Given the description of an element on the screen output the (x, y) to click on. 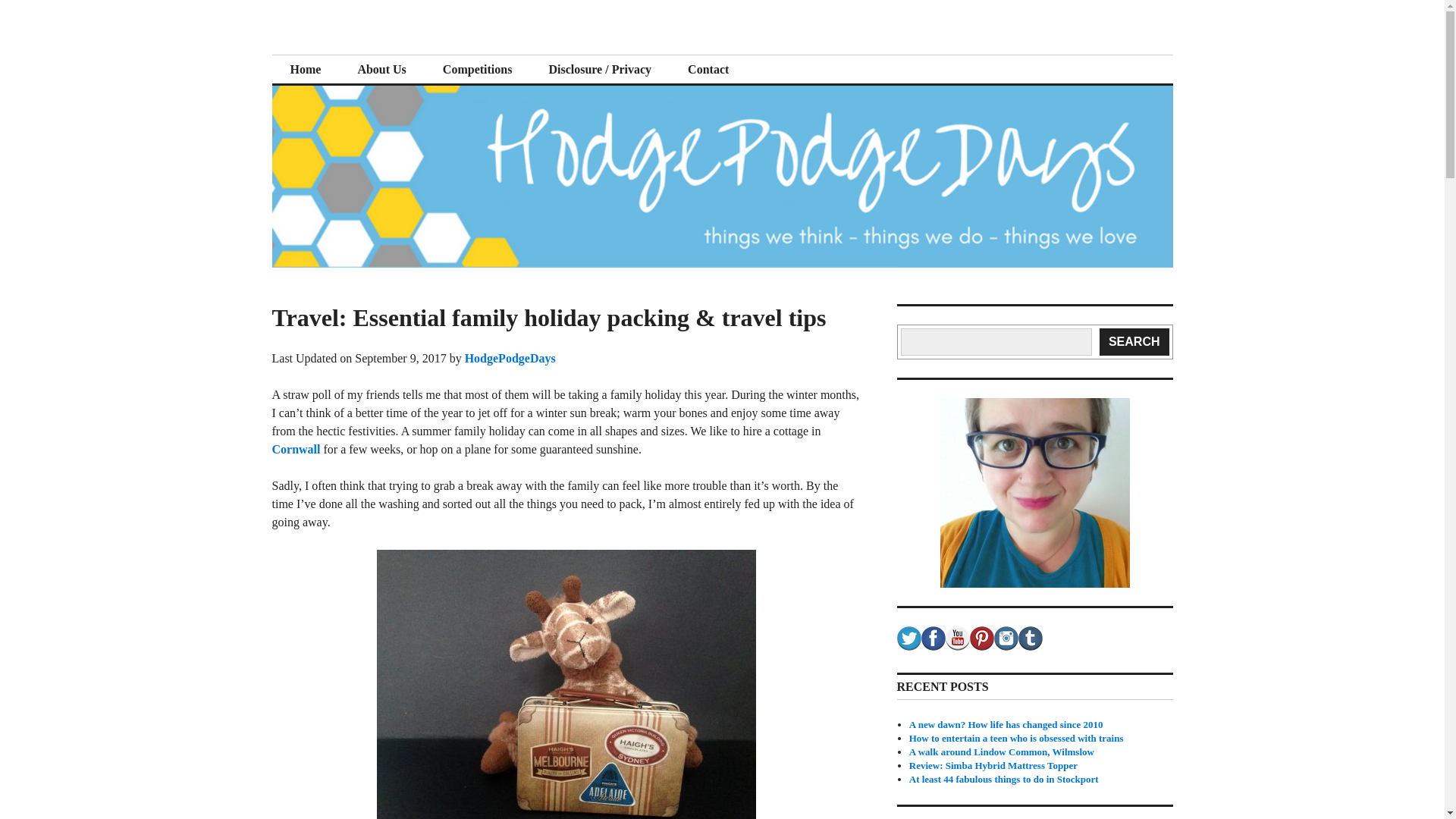
HodgePodgeDays (384, 53)
Competitions (478, 69)
Cornwall (295, 449)
Contact (707, 69)
HodgePodgeDays (510, 358)
About Us (381, 69)
Home (304, 69)
